Given the description of an element on the screen output the (x, y) to click on. 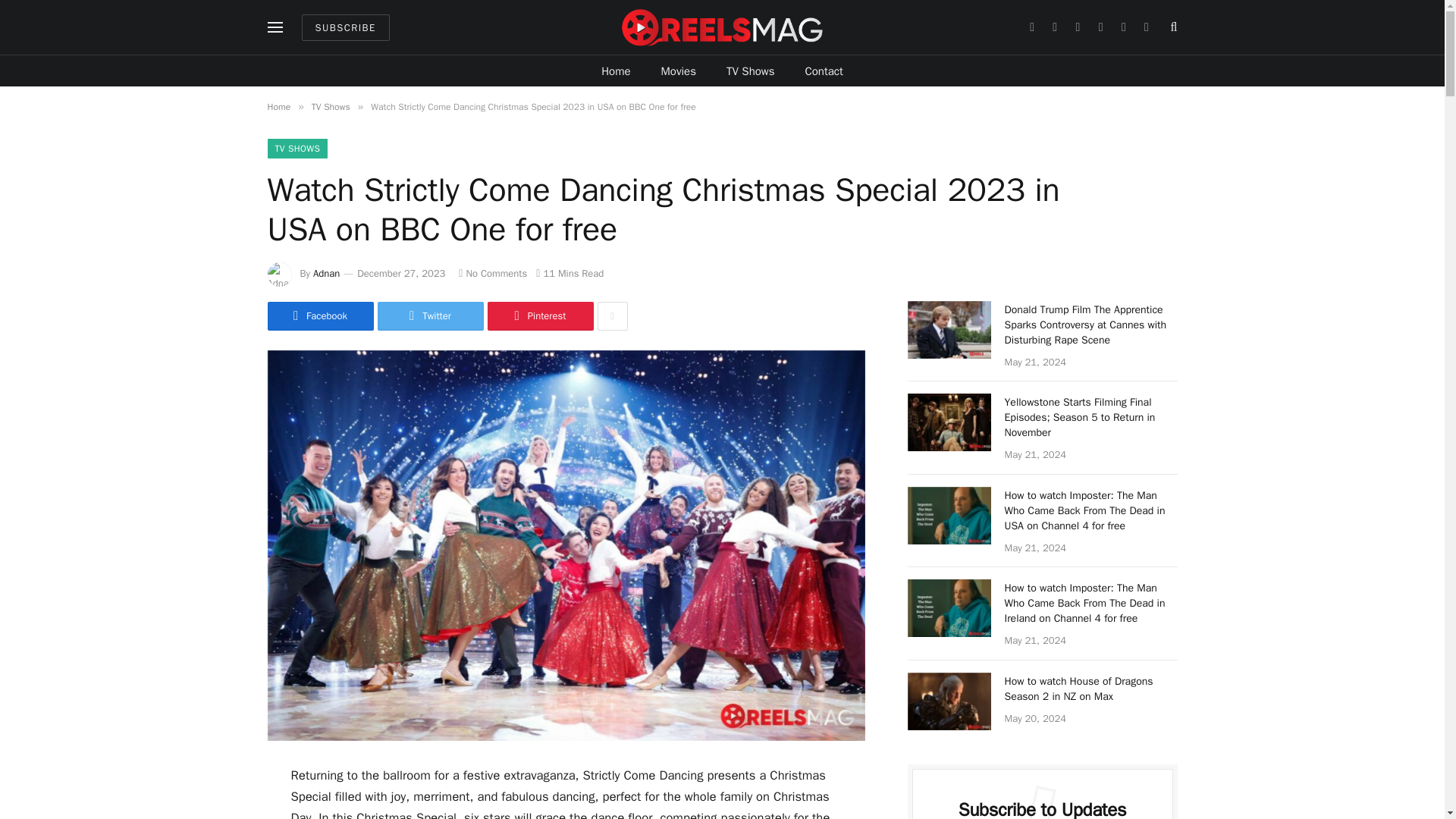
Movies (678, 70)
Home (277, 106)
Facebook (319, 316)
SUBSCRIBE (345, 26)
Share on Facebook (319, 316)
Adnan (326, 273)
TV Shows (750, 70)
Posts by Adnan (326, 273)
Pinterest (539, 316)
Contact (824, 70)
